Given the description of an element on the screen output the (x, y) to click on. 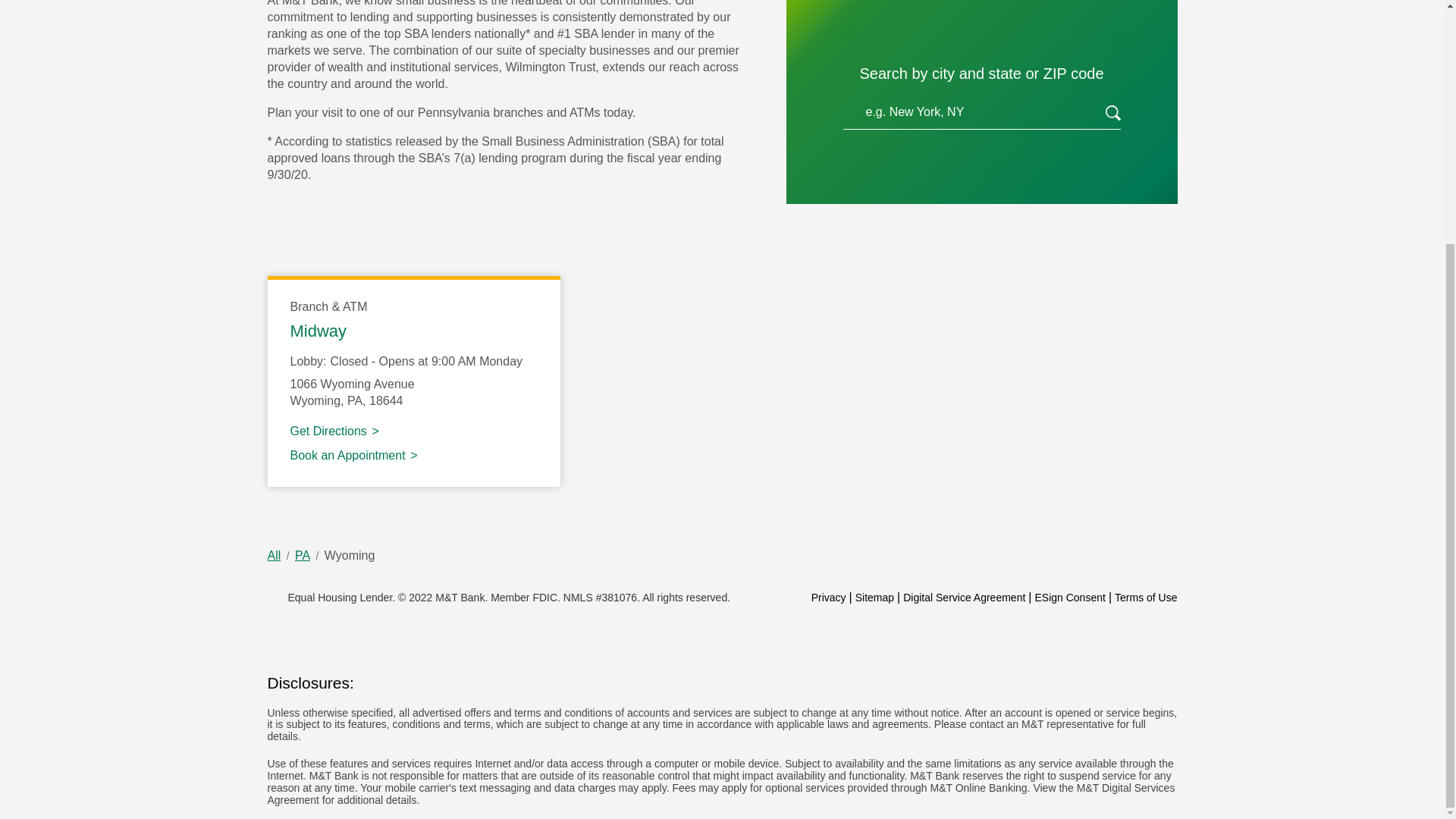
All (273, 554)
Sitemap (874, 597)
Pennsylvania (354, 400)
Terms of Use (333, 431)
Submit a search. (1145, 597)
Digital Service Agreement (1113, 115)
PA (963, 597)
Midway (302, 554)
Book an Appointment (317, 330)
Privacy (352, 455)
ESign Consent (827, 597)
